Given the description of an element on the screen output the (x, y) to click on. 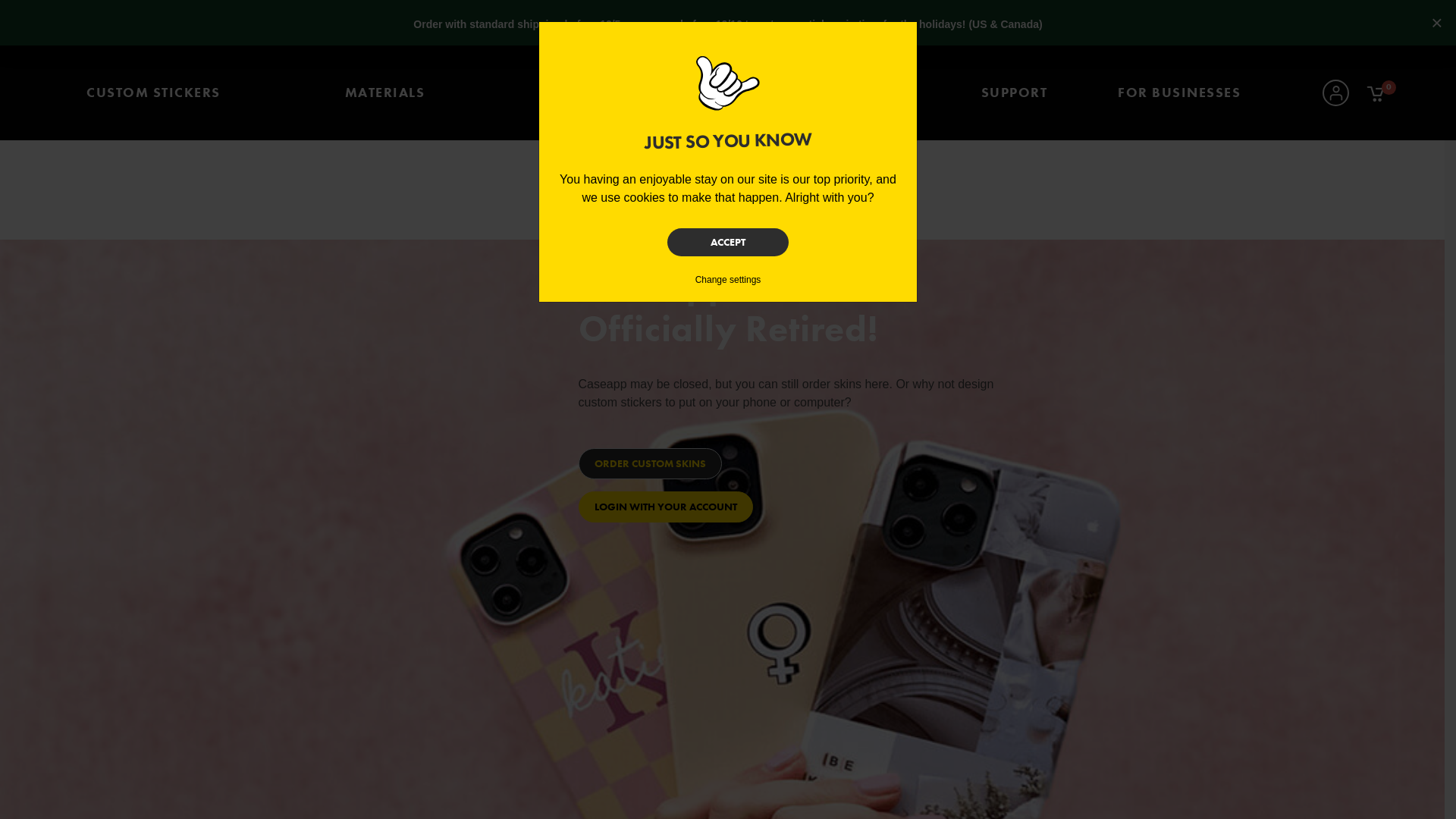
0 Element type: text (1375, 92)
Change settings Element type: text (727, 279)
Home Element type: text (727, 93)
REORDER Element type: text (582, 92)
SUPPORT Element type: text (1014, 92)
FOR BUSINESSES Element type: text (1178, 92)
MATERIALS Element type: text (385, 92)
ORDER CUSTOM SKINS Element type: text (649, 463)
ACCEPT Element type: text (727, 242)
STICKER SHOP Element type: text (858, 92)
CUSTOM STICKERS Element type: text (153, 92)
LOGIN WITH YOUR ACCOUNT Element type: text (664, 506)
Account Element type: text (1336, 93)
